Given the description of an element on the screen output the (x, y) to click on. 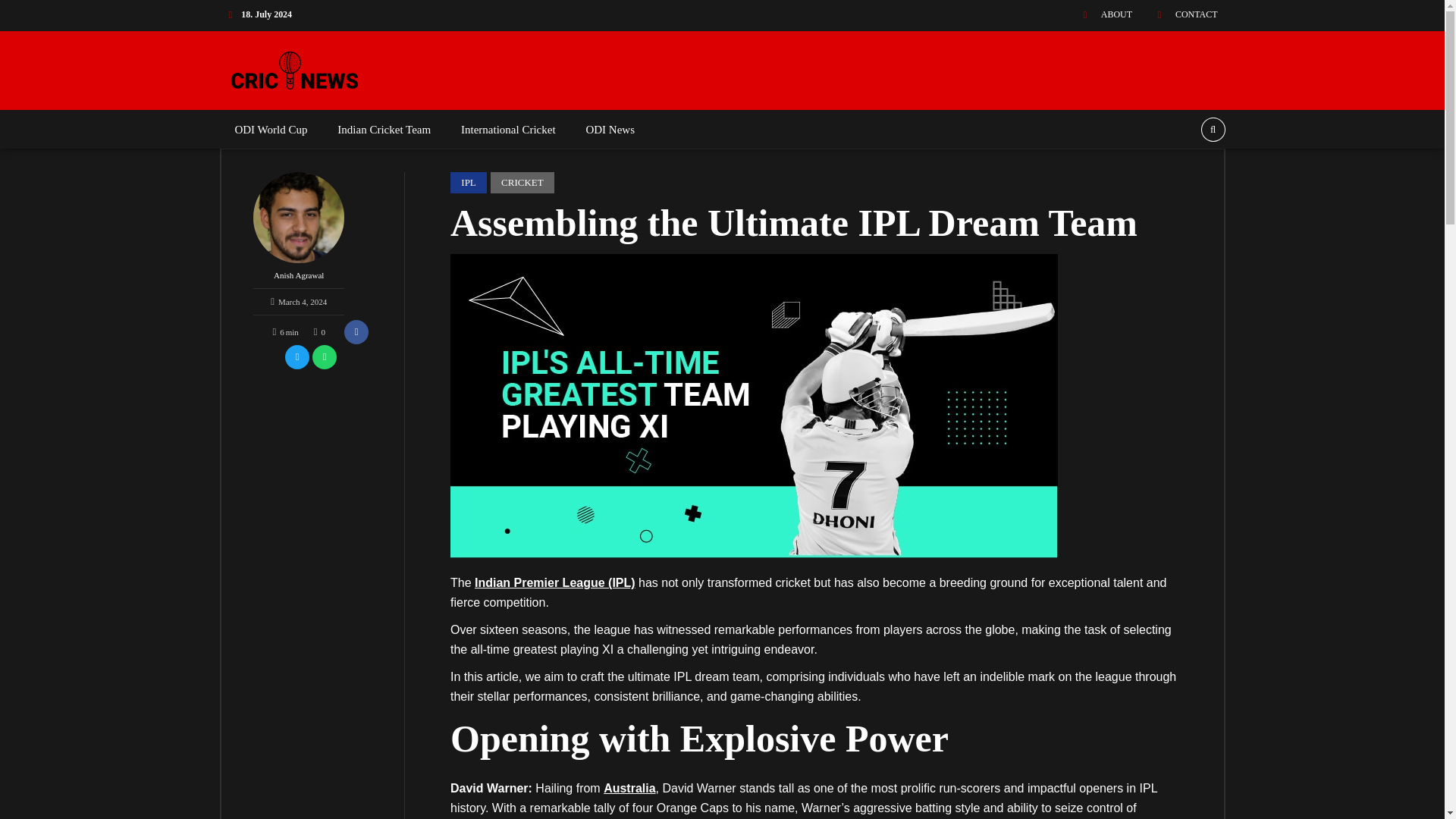
ODI News (609, 129)
Indian Cricket Team (383, 129)
ODI World Cup (271, 129)
CRICKET (522, 182)
CONTACT (1182, 14)
IPL (467, 182)
ABOUT (1102, 14)
Australia (629, 788)
International Cricket (507, 129)
Anish Agrawal (298, 230)
